Given the description of an element on the screen output the (x, y) to click on. 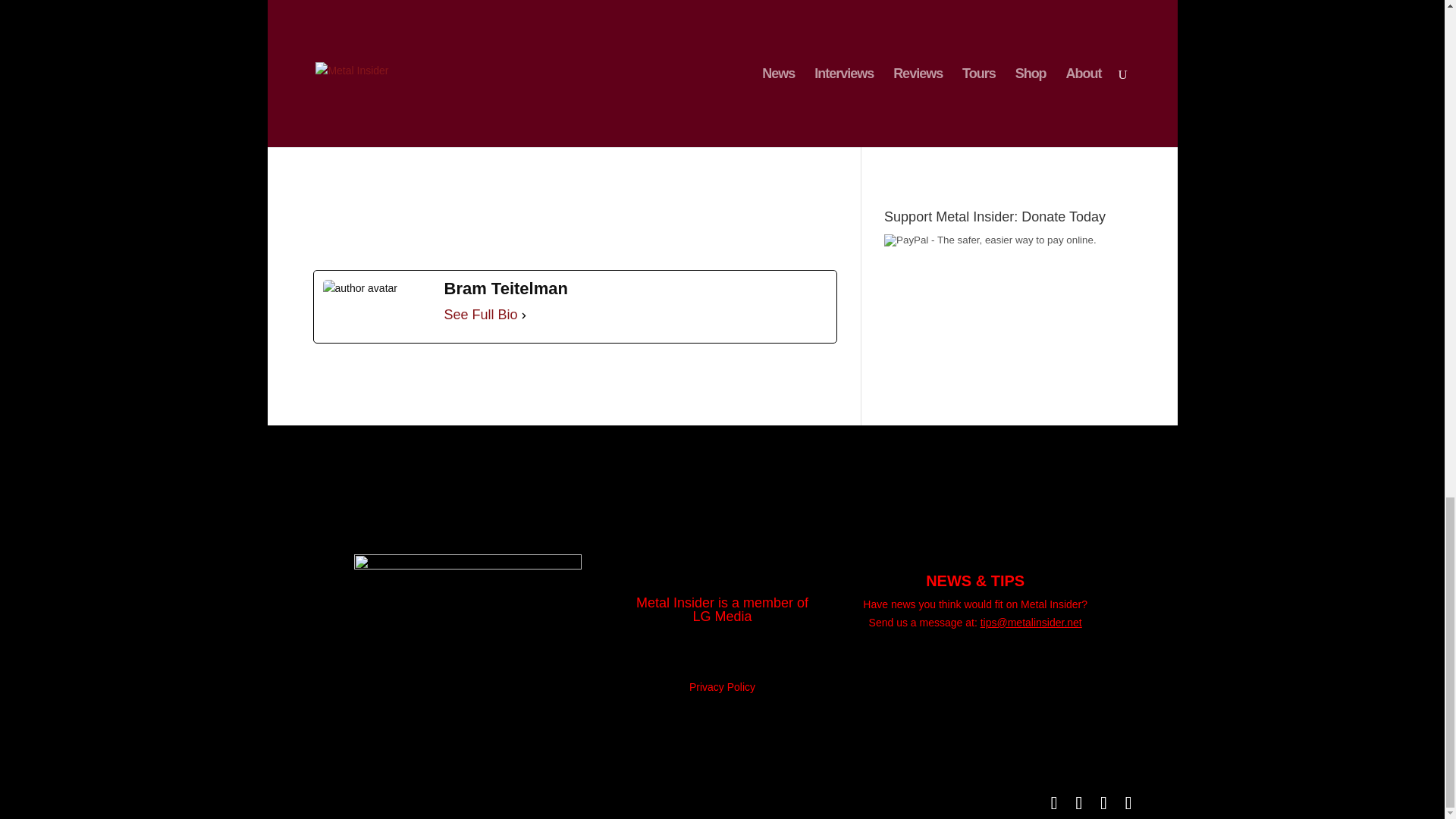
read more (1007, 52)
See Full Bio (481, 315)
LG Media (722, 616)
Privacy Policy (721, 686)
